Given the description of an element on the screen output the (x, y) to click on. 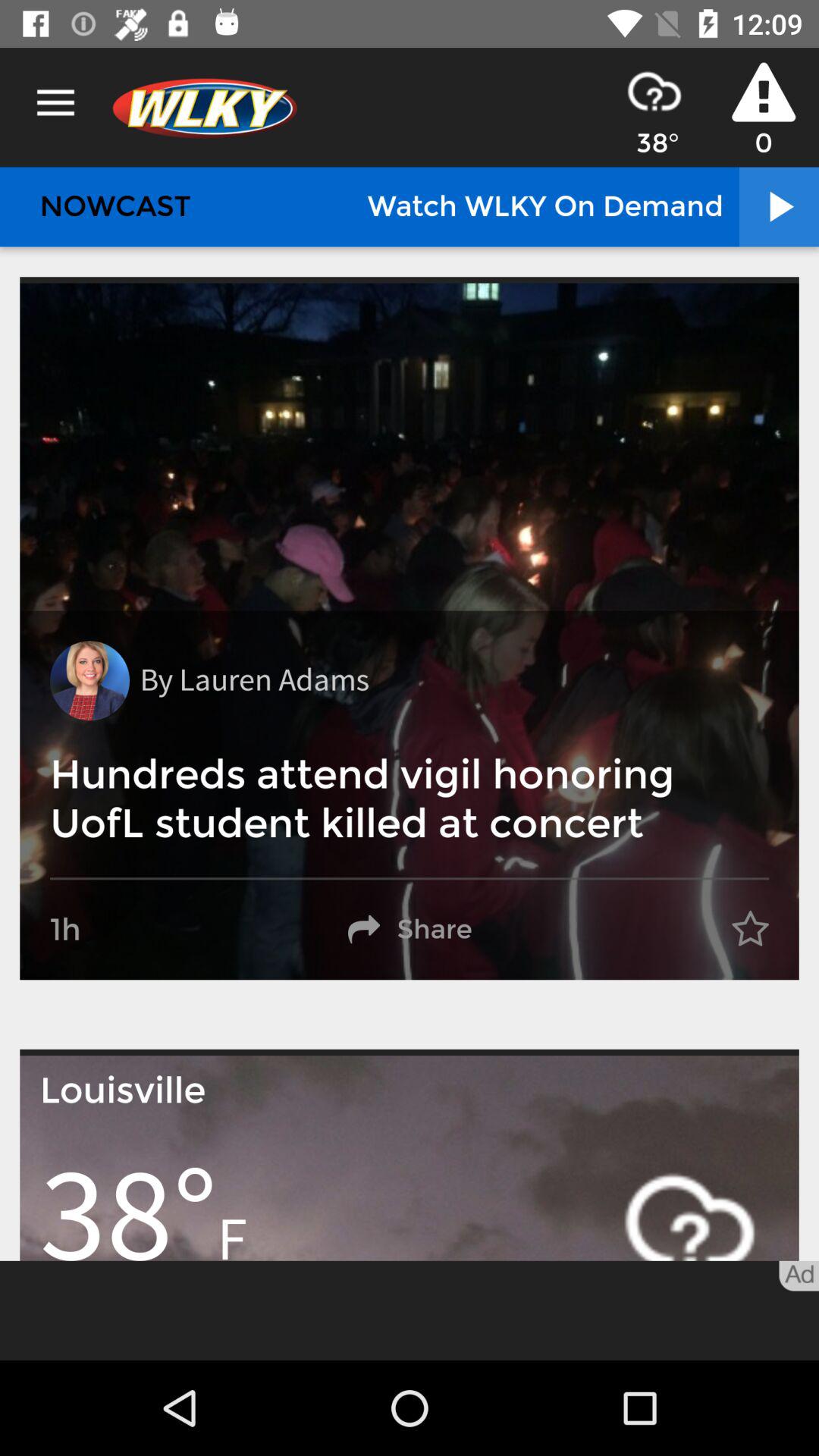
view the advertisement (409, 1310)
